Given the description of an element on the screen output the (x, y) to click on. 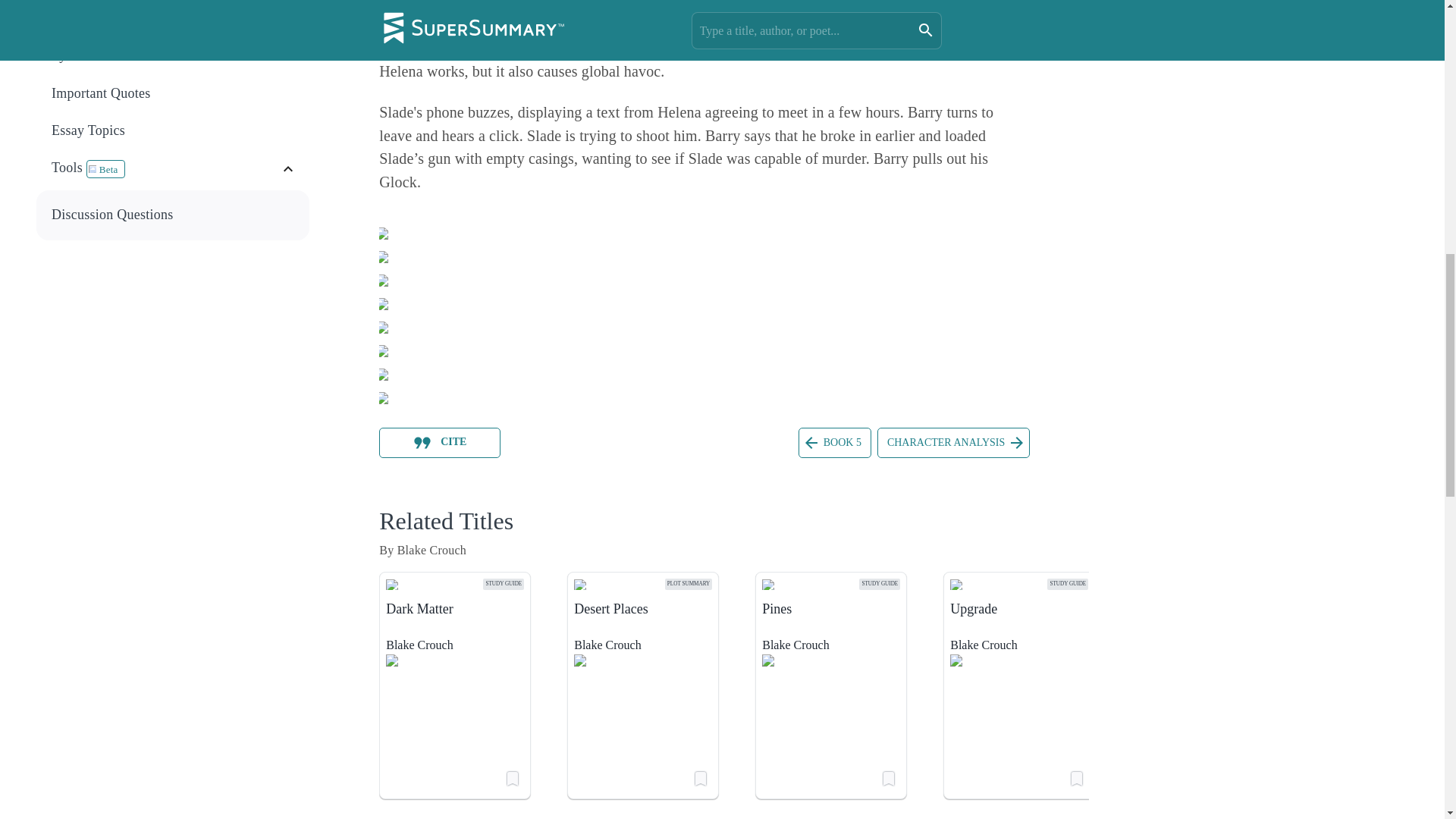
BOOK 5 (833, 442)
CITE (439, 442)
Discussion Questions (172, 214)
CHARACTER ANALYSIS (953, 440)
Important Quotes (172, 93)
Important Quotes (173, 93)
Essay Topics (172, 130)
Themes (173, 18)
Themes (172, 18)
BOOK 5 (833, 440)
CHARACTER ANALYSIS (953, 442)
Essay Topics (173, 130)
Discussion Questions (173, 214)
Tools (164, 168)
